Given the description of an element on the screen output the (x, y) to click on. 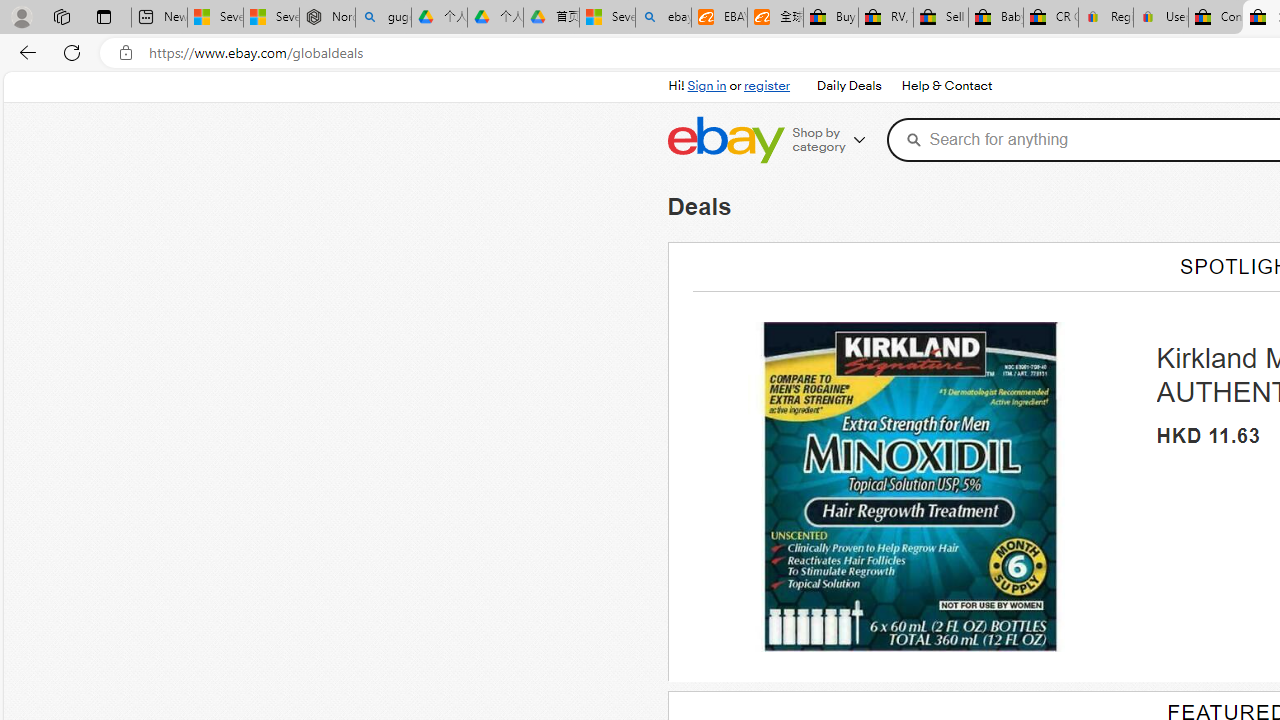
Deals (699, 206)
Refresh (72, 52)
Sign in (707, 85)
Back (24, 52)
